Given the description of an element on the screen output the (x, y) to click on. 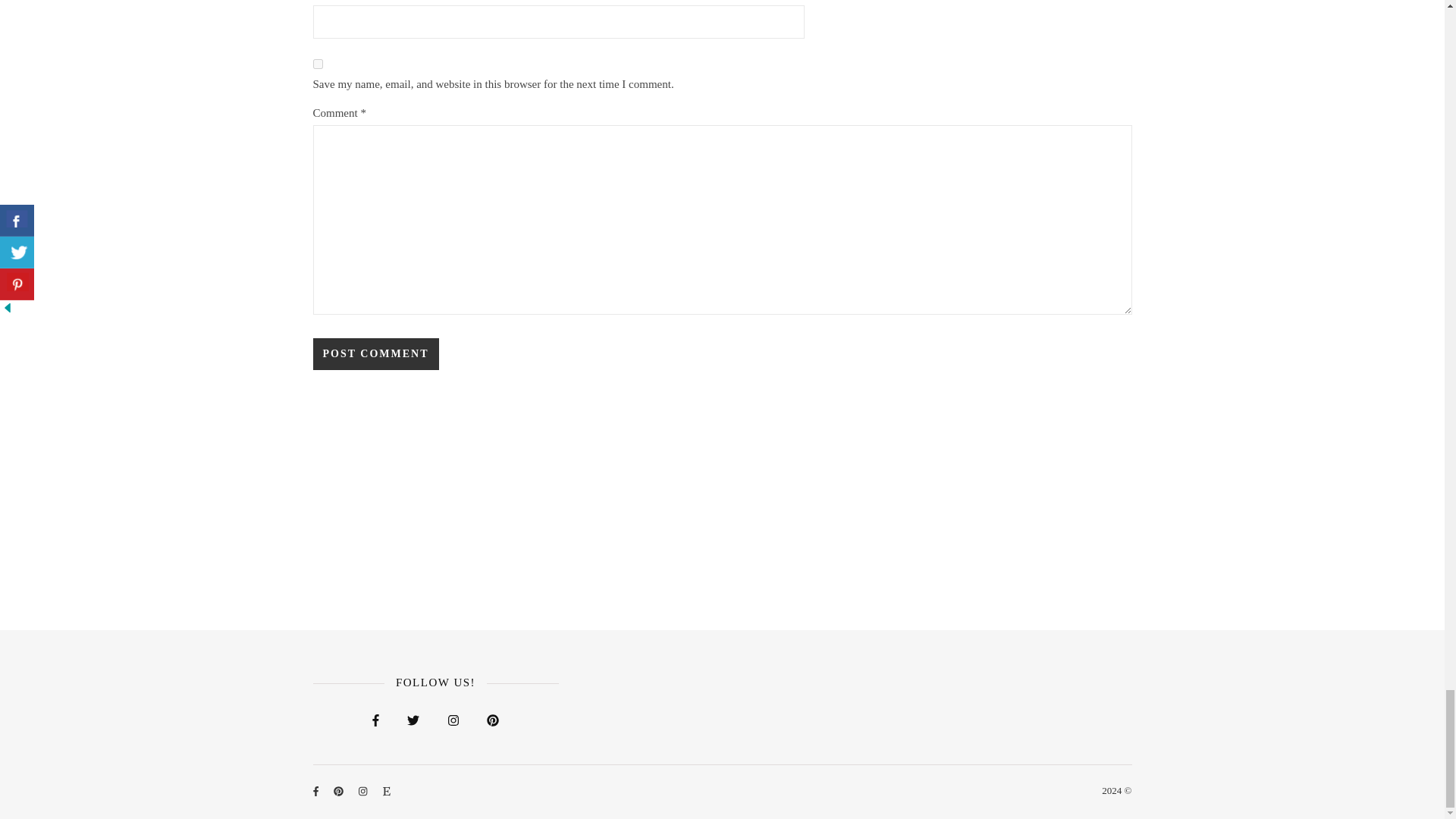
Post Comment (375, 354)
yes (317, 63)
